Given the description of an element on the screen output the (x, y) to click on. 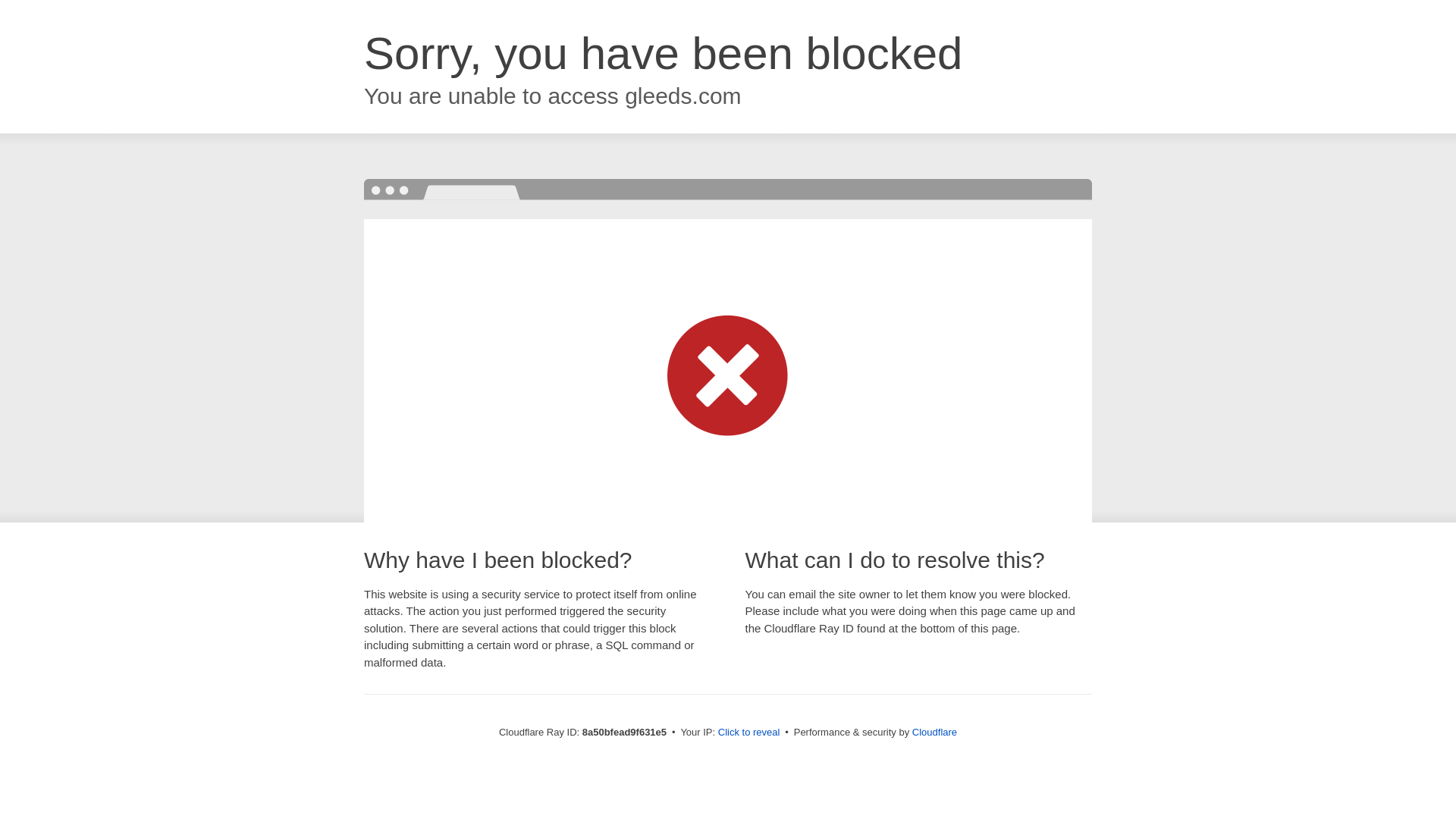
Click to reveal (748, 732)
Cloudflare (934, 731)
